Given the description of an element on the screen output the (x, y) to click on. 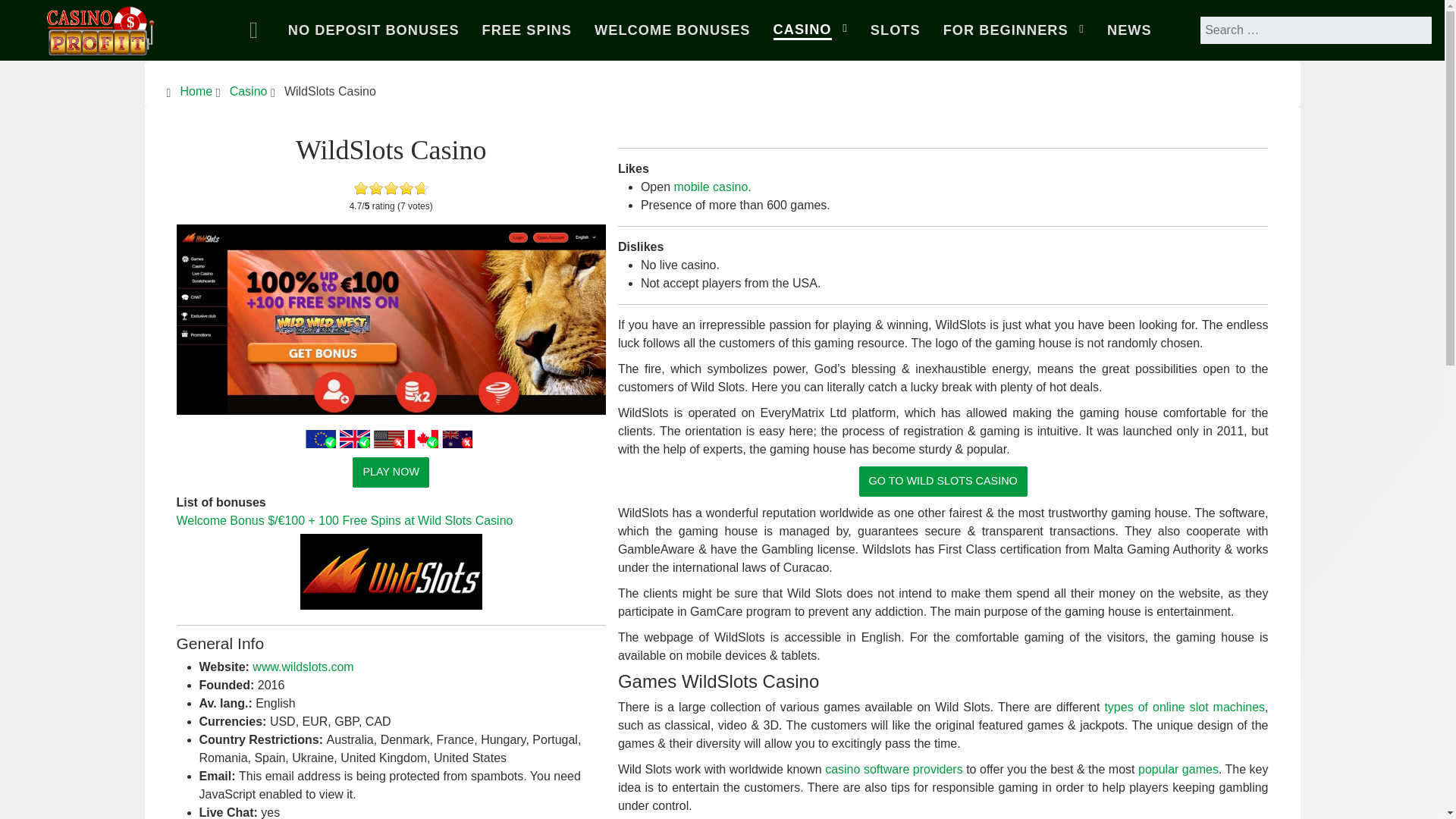
SLOTS (895, 29)
PLAY NOW (390, 472)
www.wildslots.com (302, 666)
CASINO (809, 30)
2 out of 5 (368, 187)
types of online slot machines (1184, 707)
casino software providers (893, 768)
popular games (1178, 768)
Home (257, 30)
www.wildslots.com (302, 666)
Casino (248, 91)
1 out of 5 (360, 187)
3 out of 5 (375, 187)
5 out of 5 (391, 187)
FREE SPINS (525, 29)
